Given the description of an element on the screen output the (x, y) to click on. 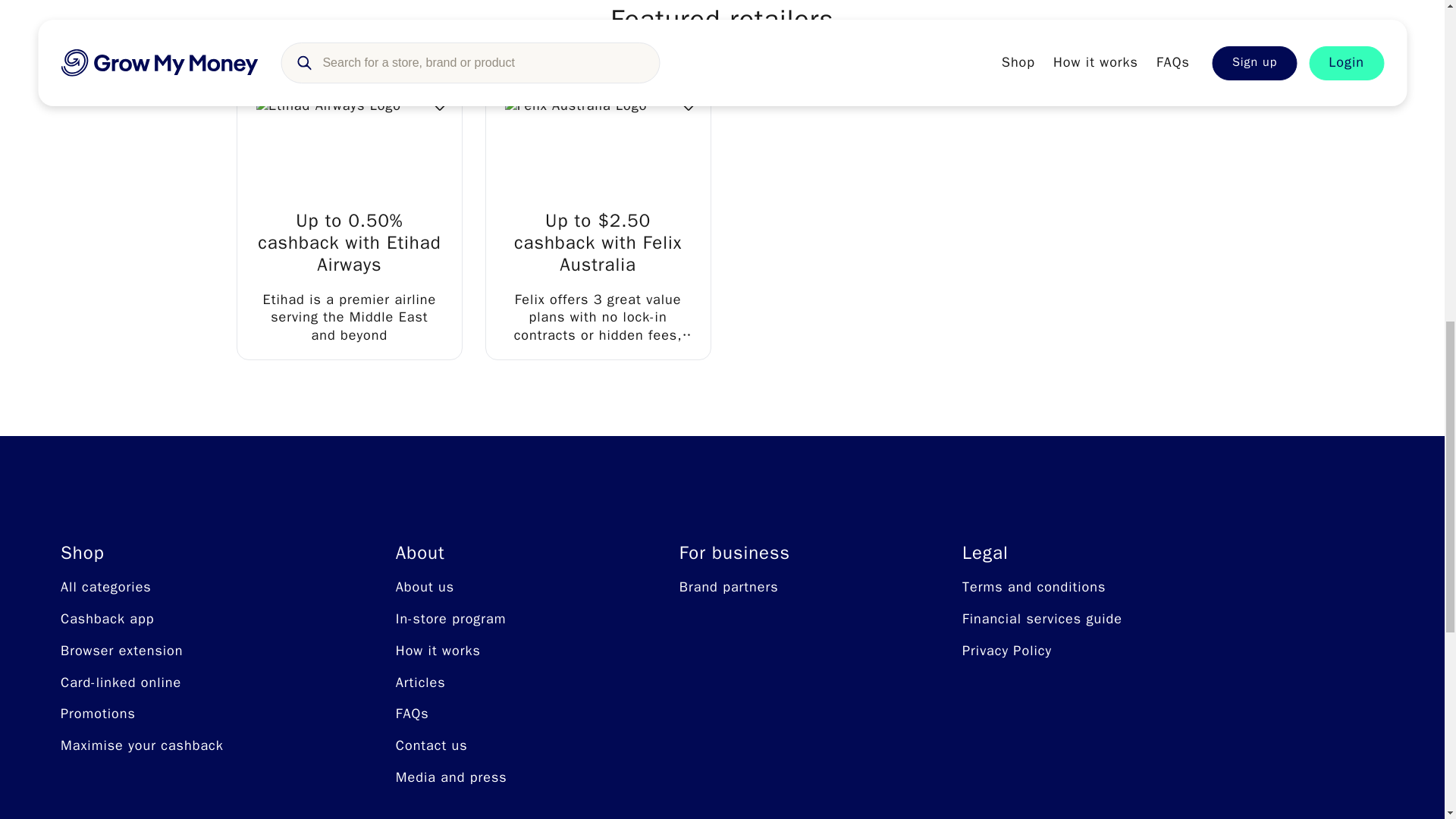
Articles (420, 682)
Cashback app (107, 618)
Terms and conditions (1033, 586)
All categories (106, 586)
About (451, 553)
Maximise your cashback (142, 745)
Browser extension (122, 650)
About us (425, 586)
Brand partners (728, 586)
FAQs (412, 713)
